Given the description of an element on the screen output the (x, y) to click on. 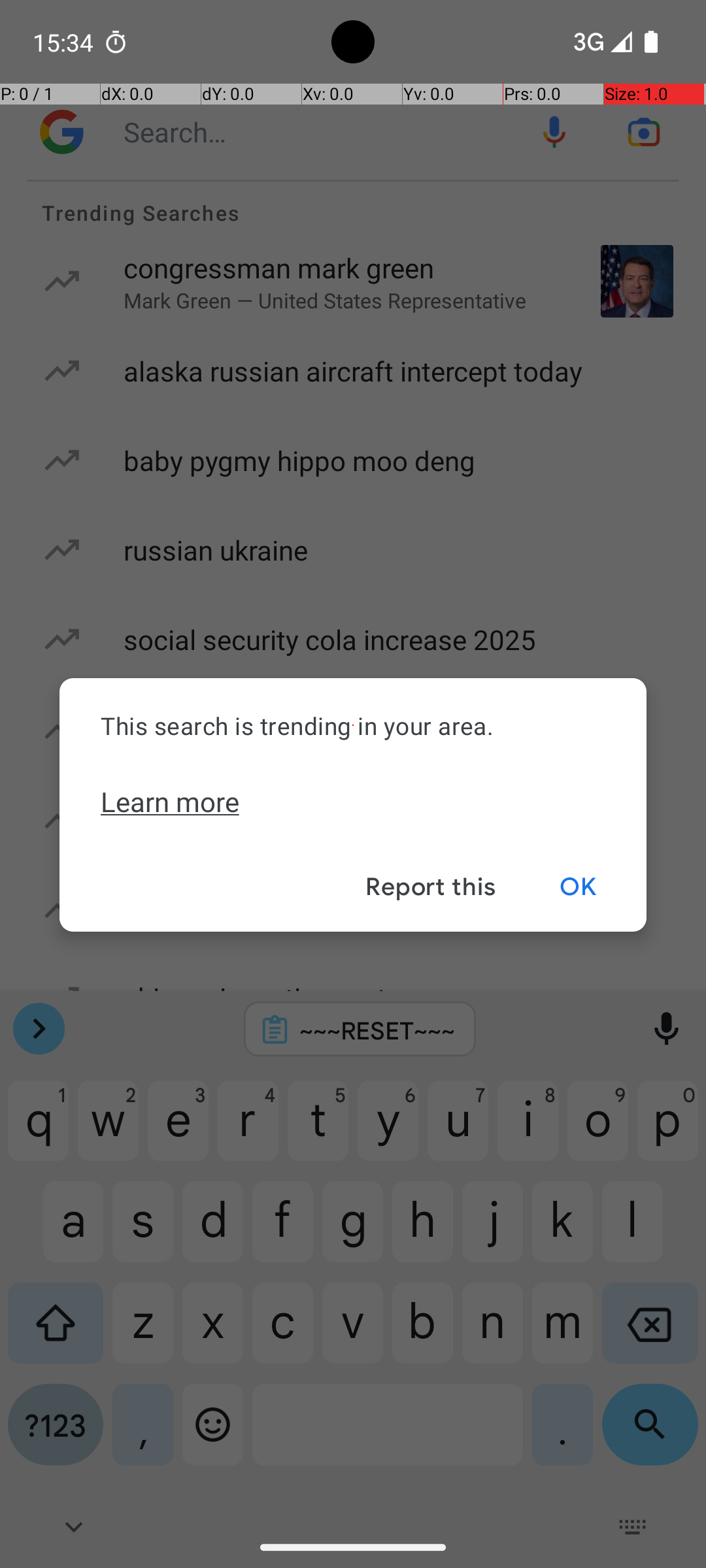
This search is trending in your area. Element type: android.widget.TextView (352, 725)
Report this Element type: android.widget.Button (430, 887)
